Given the description of an element on the screen output the (x, y) to click on. 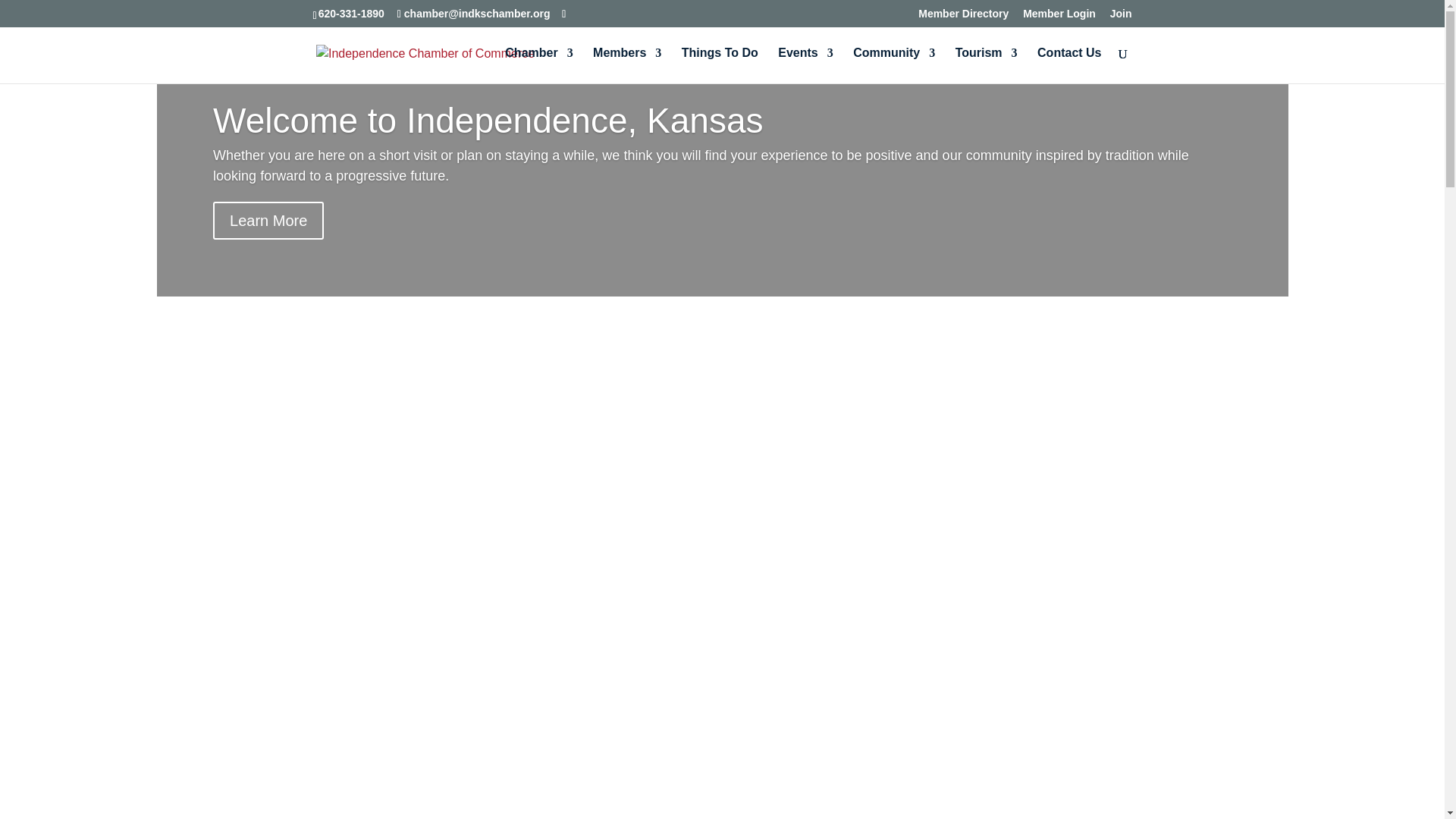
Things To Do (719, 65)
Member Directory (963, 16)
Events (804, 65)
Community (893, 65)
Join (1120, 16)
Member Login (1059, 16)
Members (626, 65)
Chamber (538, 65)
